Given the description of an element on the screen output the (x, y) to click on. 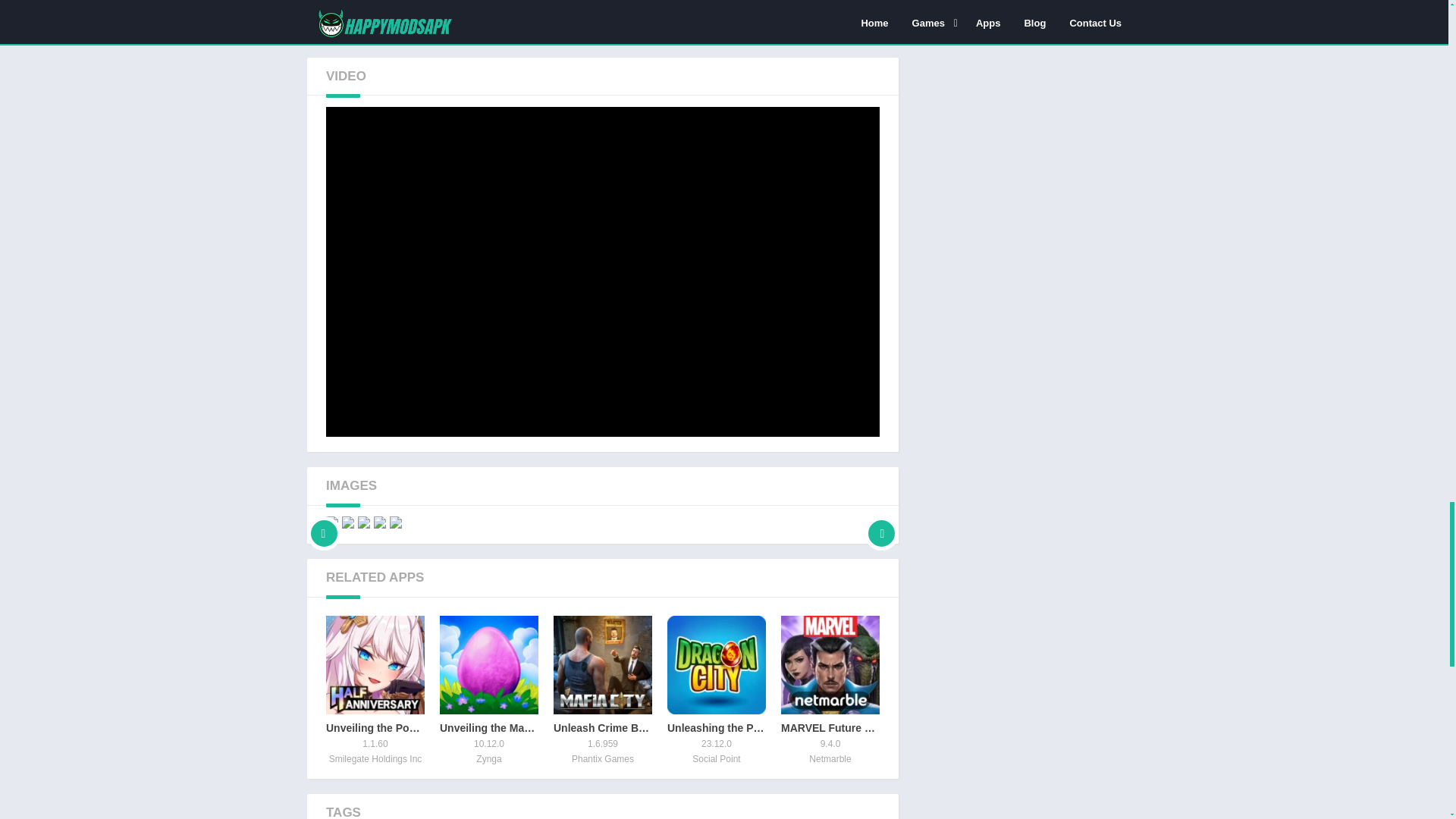
Previous (323, 522)
